Given the description of an element on the screen output the (x, y) to click on. 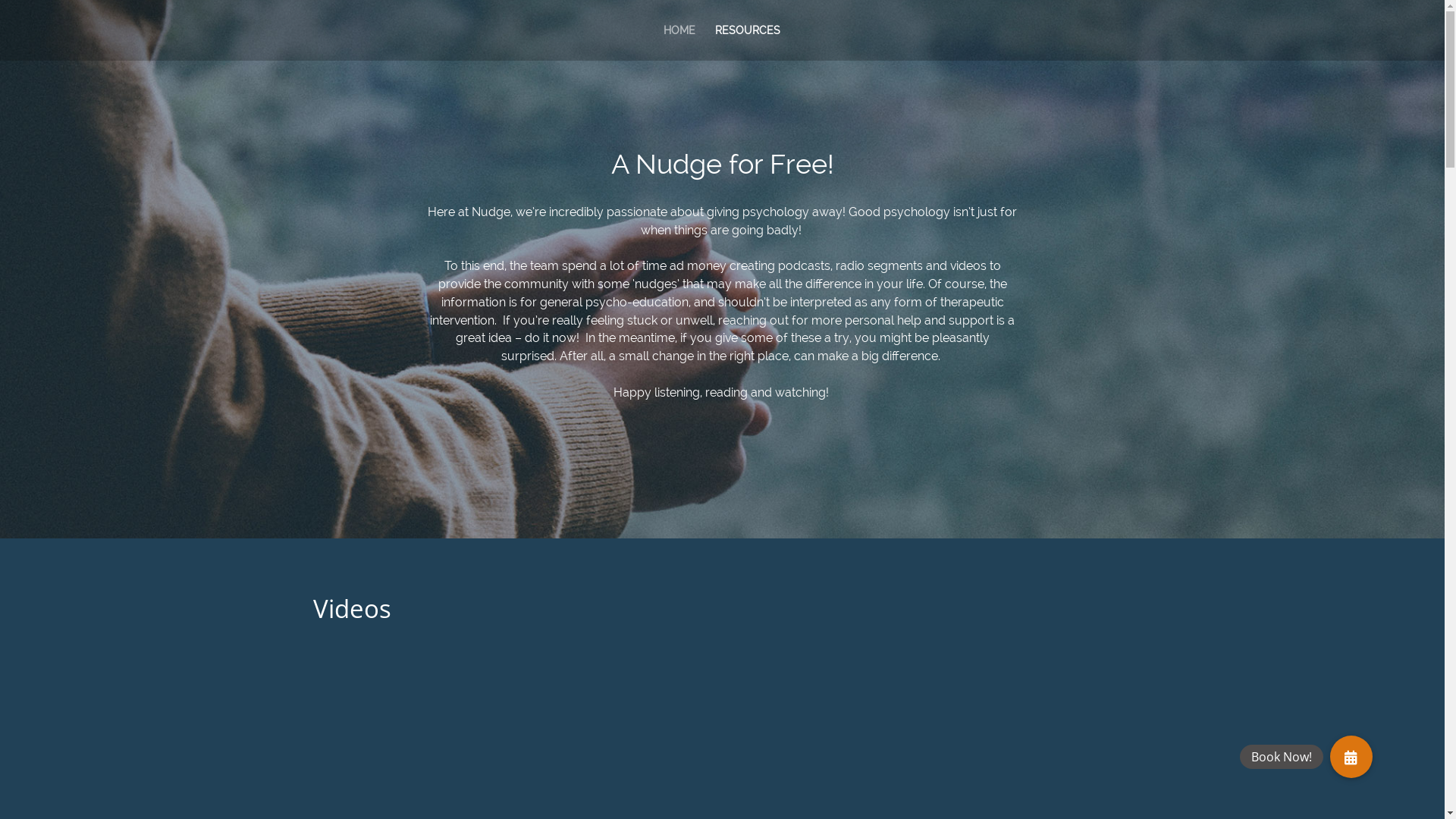
Book Now! Element type: text (1351, 756)
HOME Element type: text (678, 42)
RESOURCES Element type: text (746, 42)
